Given the description of an element on the screen output the (x, y) to click on. 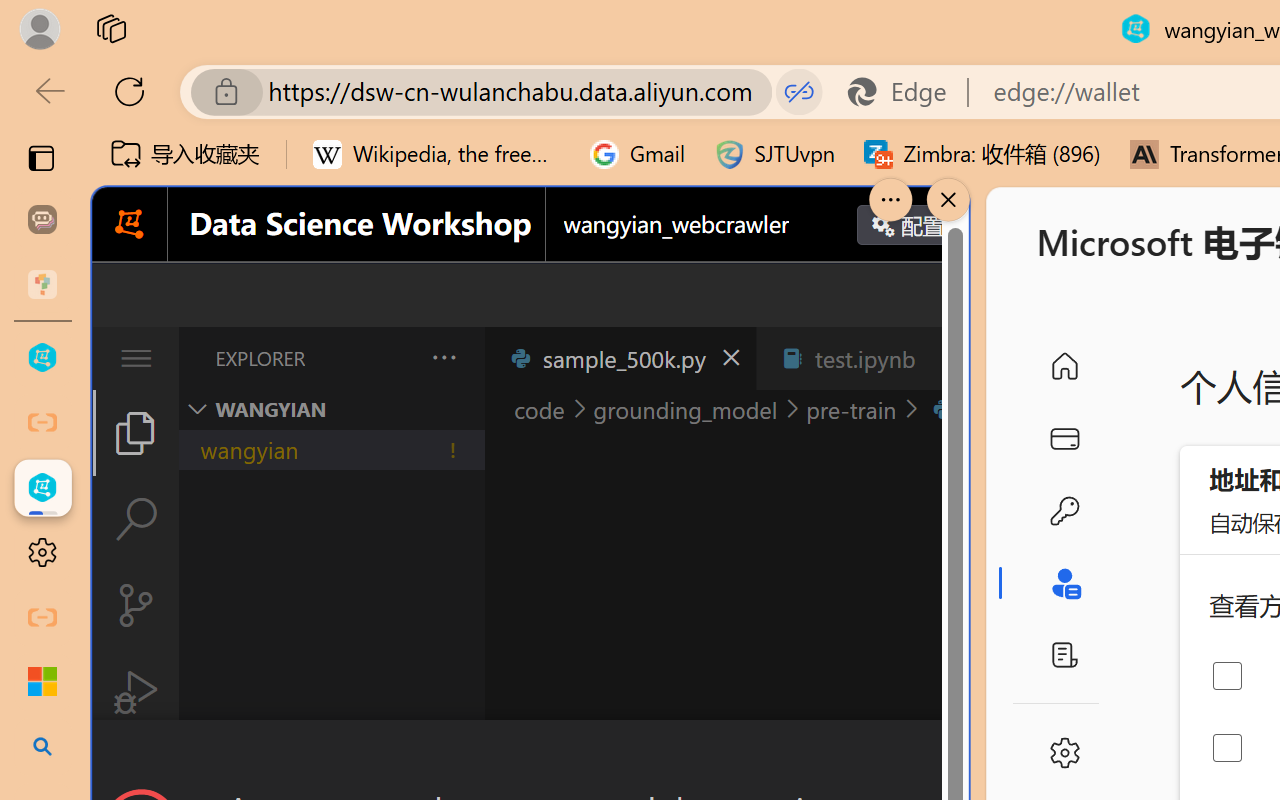
sample_500k.py (619, 358)
Close (Ctrl+F4) (946, 358)
Class: actions-container (529, 756)
Close Dialog (959, 756)
